Given the description of an element on the screen output the (x, y) to click on. 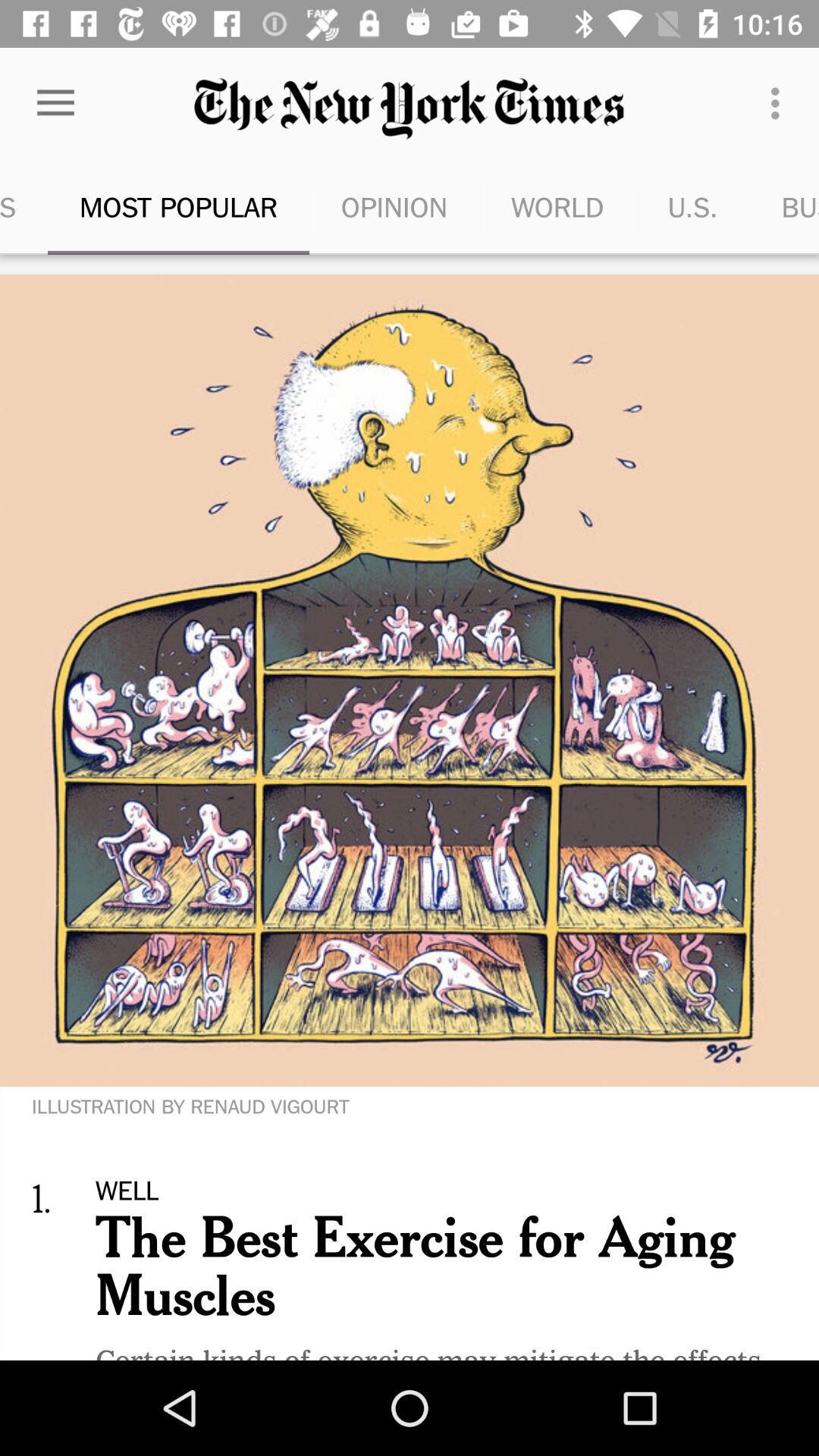
flip to the world icon (557, 206)
